Given the description of an element on the screen output the (x, y) to click on. 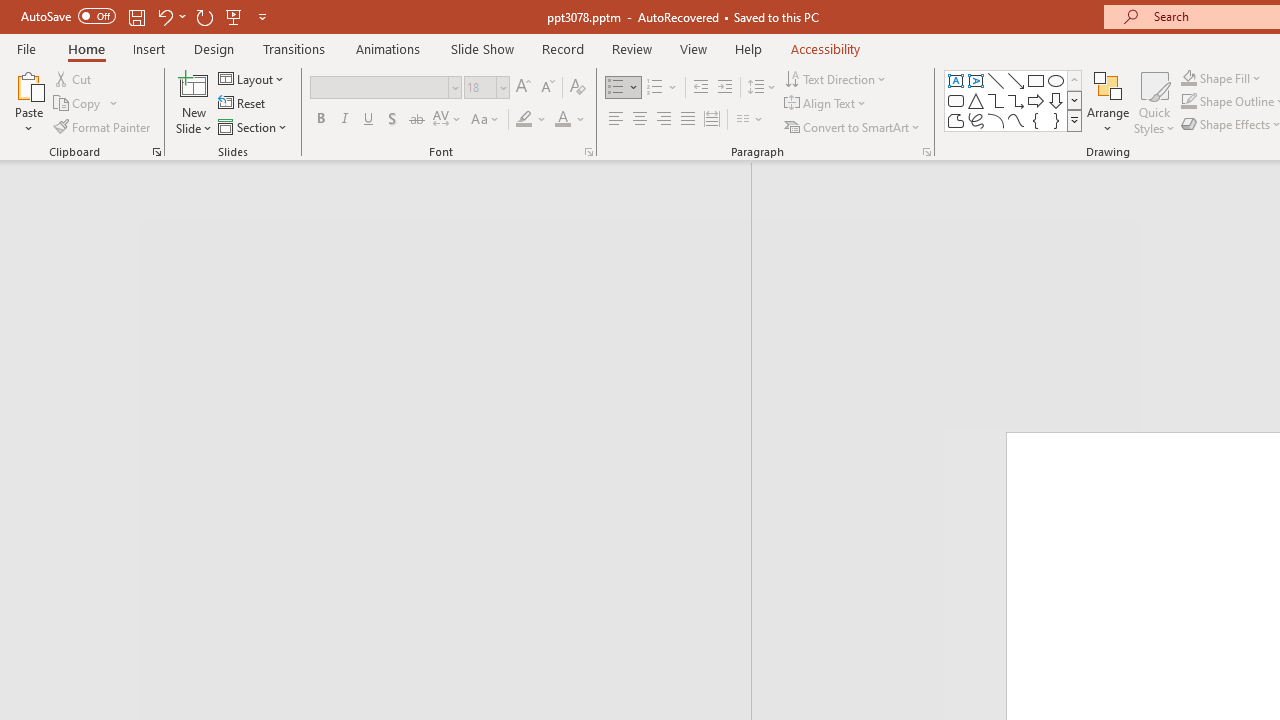
Reset (243, 103)
Shape Outline Green, Accent 1 (1188, 101)
Align Text (826, 103)
Arc (995, 120)
Layout (252, 78)
AutomationID: ShapesInsertGallery (1014, 100)
